Given the description of an element on the screen output the (x, y) to click on. 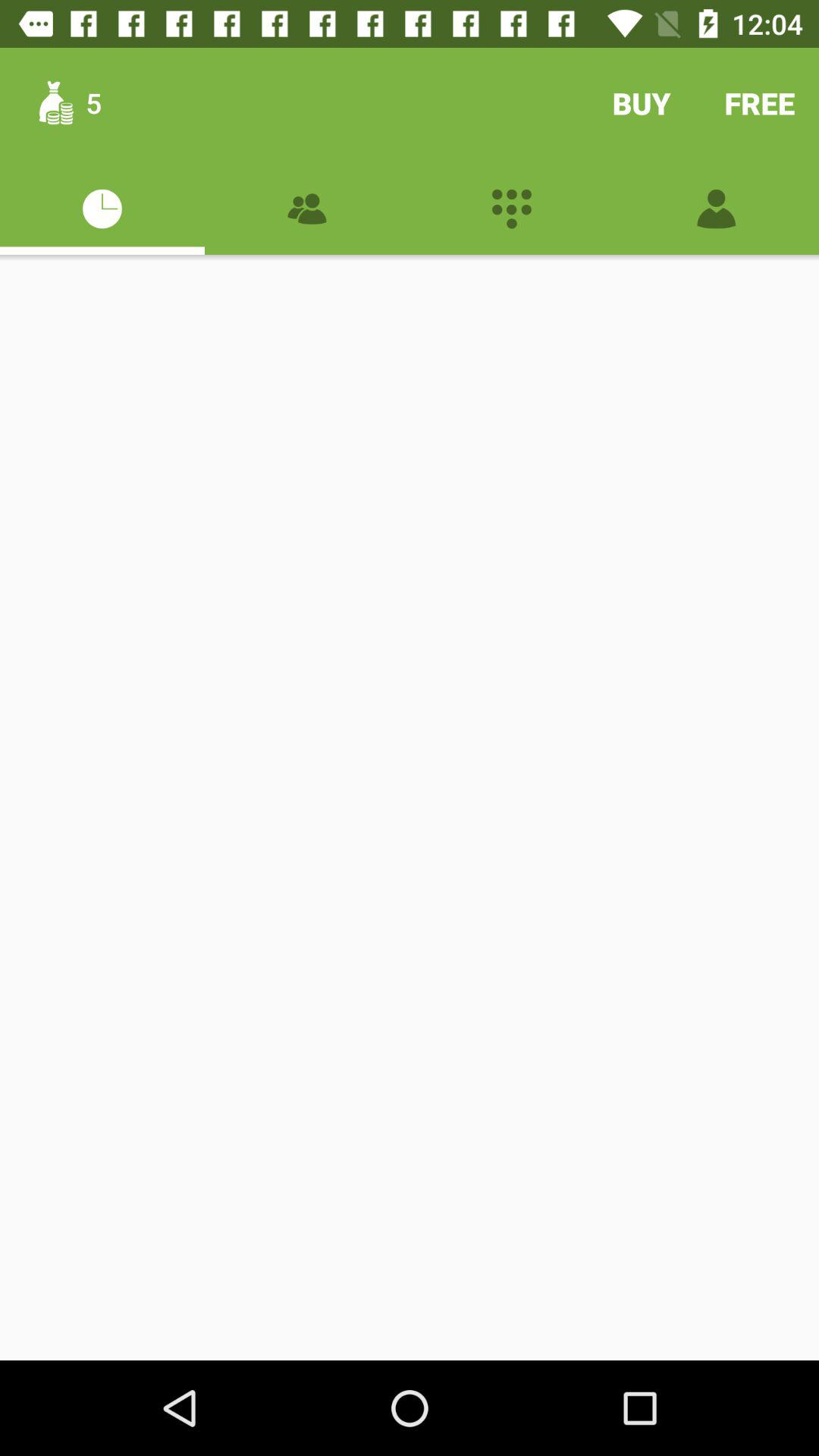
turn off the icon next to buy item (759, 103)
